Given the description of an element on the screen output the (x, y) to click on. 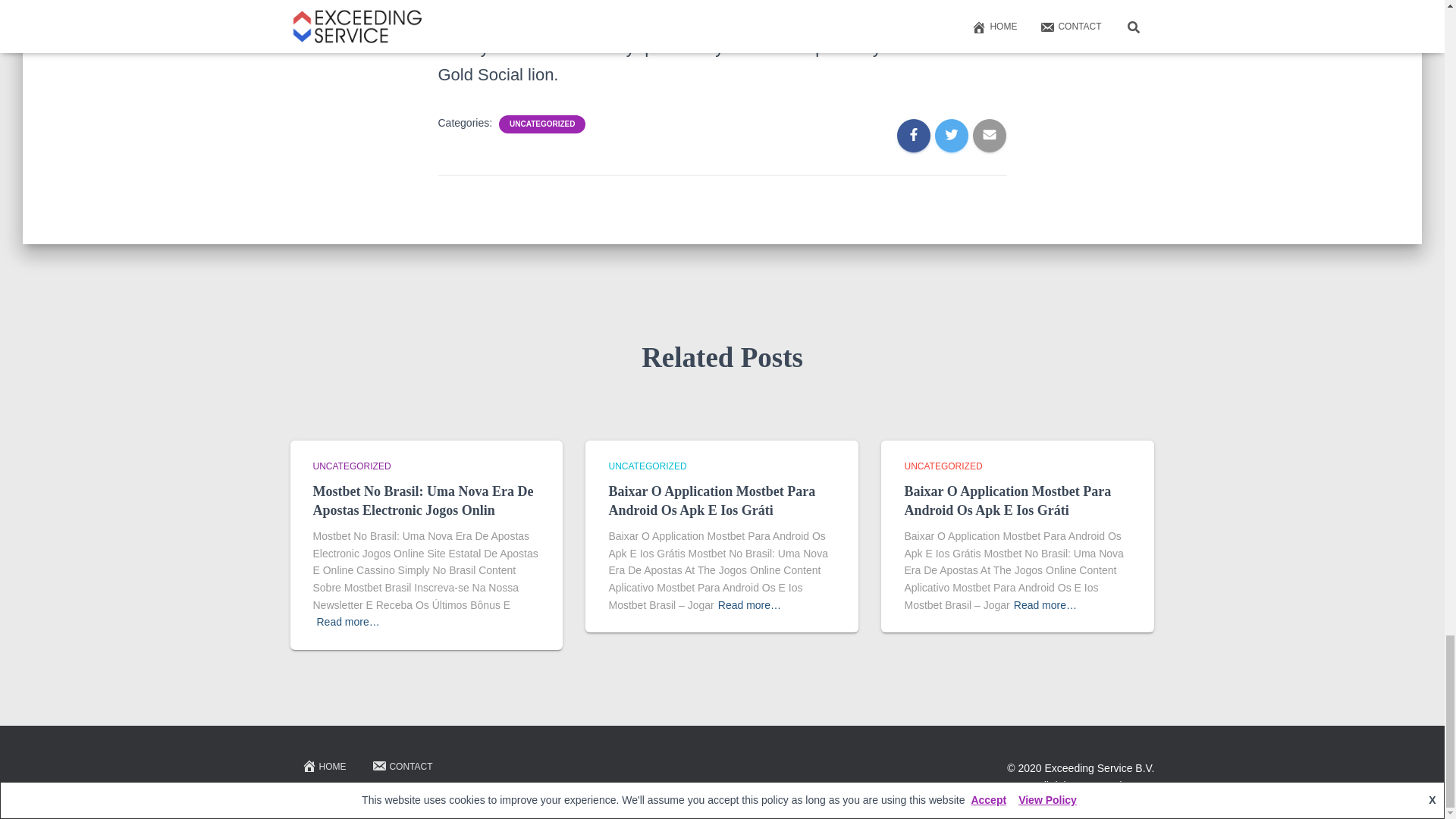
View all posts in Uncategorized (942, 466)
View all posts in Uncategorized (646, 466)
CONTACT (401, 766)
HOME (322, 766)
UNCATEGORIZED (942, 466)
UNCATEGORIZED (646, 466)
UNCATEGORIZED (542, 123)
View all posts in Uncategorized (351, 466)
UNCATEGORIZED (351, 466)
